Given the description of an element on the screen output the (x, y) to click on. 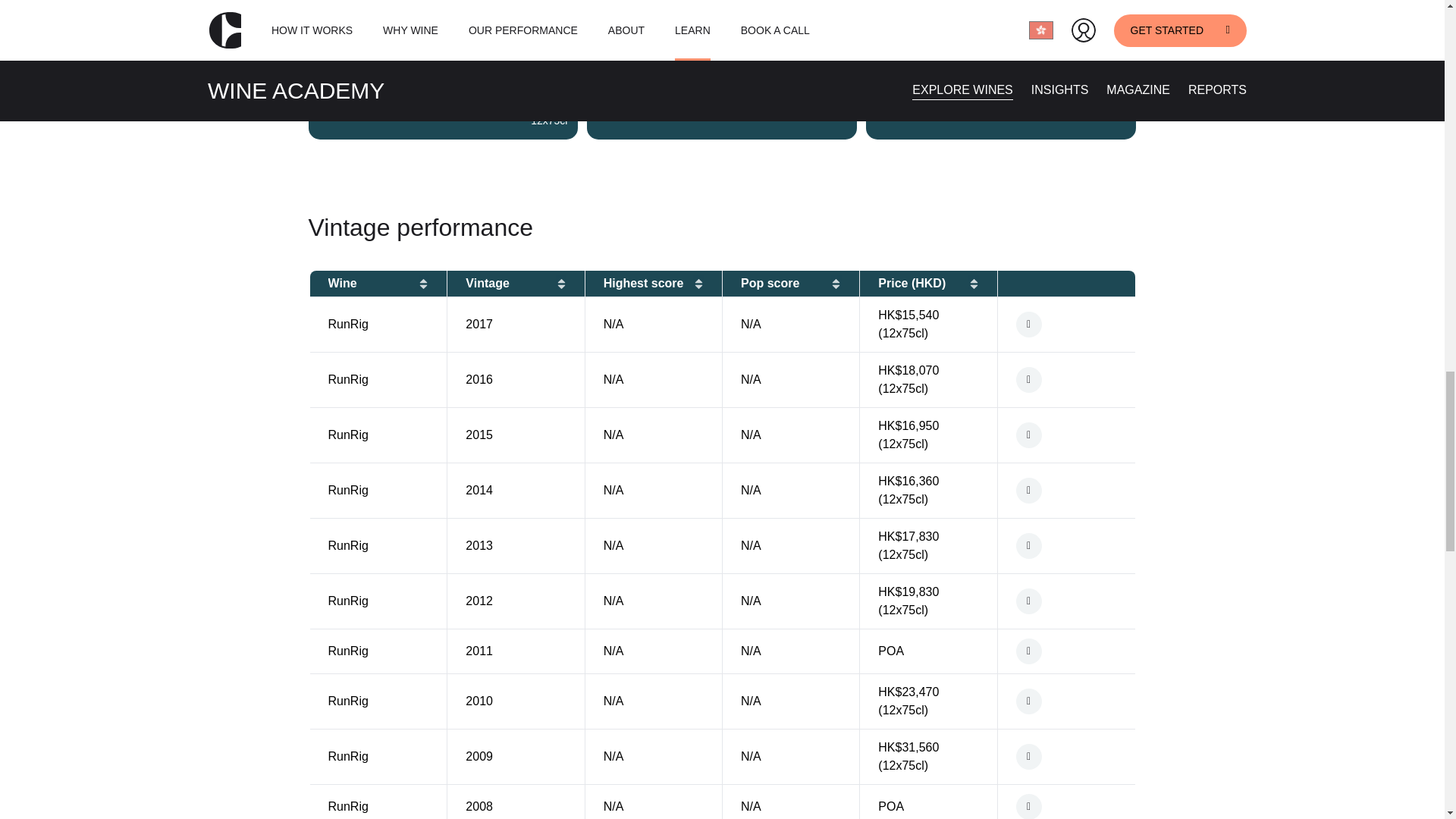
RunRig, 2014 (1066, 490)
RunRig, 2013 (1066, 545)
RunRig, 2012 (1066, 601)
RunRig, 2015 (1066, 434)
RunRig, 2011 (1066, 651)
RunRig, 2010 (1066, 701)
RunRig, 2016 (1066, 379)
RunRig, 2008 (1066, 806)
RunRig, 2009 (1066, 756)
RunRig, 2017 (1066, 324)
